Given the description of an element on the screen output the (x, y) to click on. 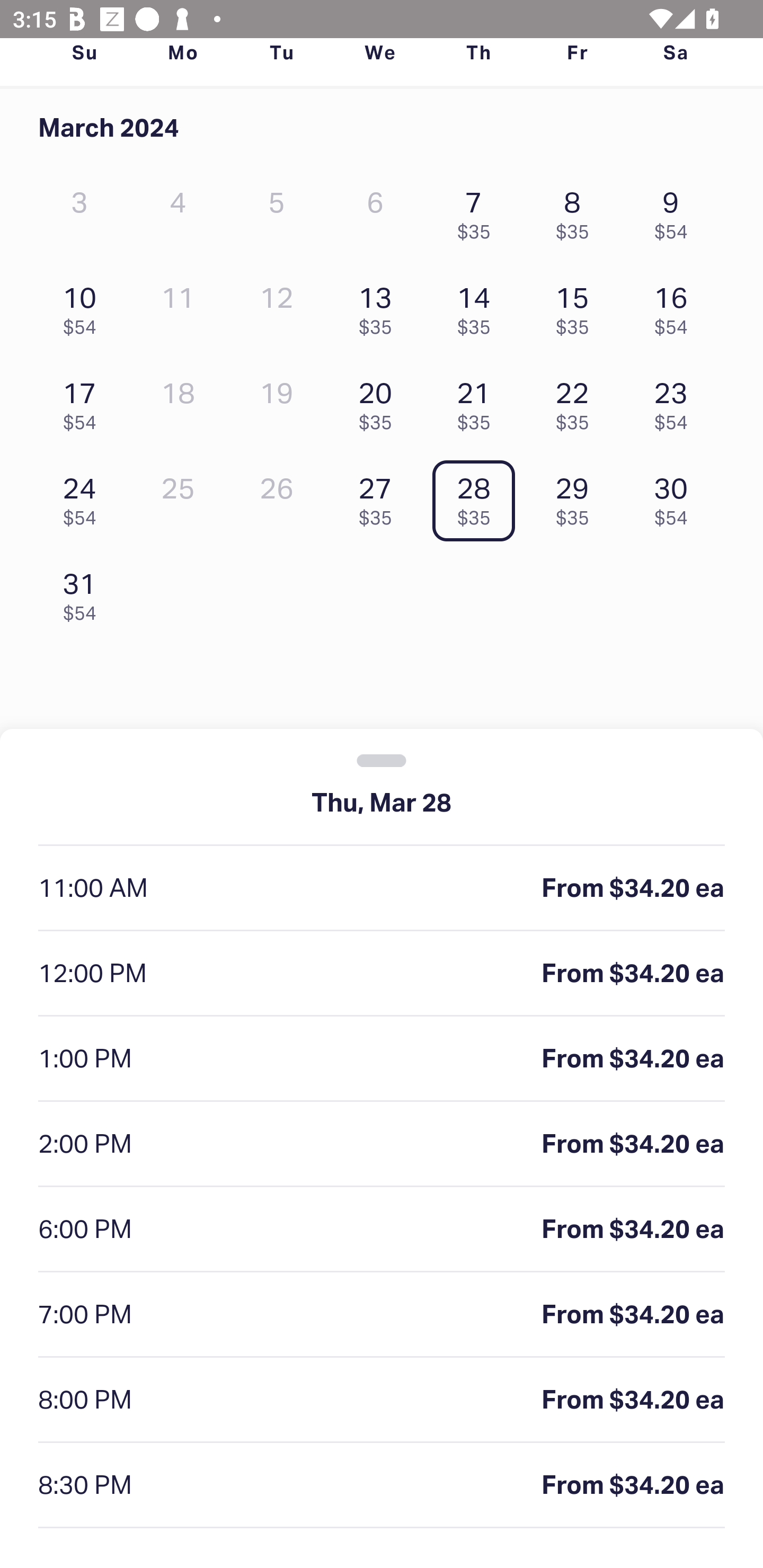
7 $35 (478, 210)
8 $35 (577, 210)
9 $54 (675, 210)
10 $54 (84, 306)
13 $35 (379, 306)
14 $35 (478, 306)
15 $35 (577, 306)
16 $54 (675, 306)
17 $54 (84, 401)
20 $35 (379, 401)
21 $35 (478, 401)
22 $35 (577, 401)
23 $54 (675, 401)
24 $54 (84, 496)
27 $35 (379, 496)
28 $35 (478, 496)
29 $35 (577, 496)
30 $54 (675, 496)
31 $54 (84, 591)
11:00 AM From $34.20 ea (381, 888)
12:00 PM From $34.20 ea (381, 973)
1:00 PM From $34.20 ea (381, 1059)
2:00 PM From $34.20 ea (381, 1144)
6:00 PM From $34.20 ea (381, 1228)
7:00 PM From $34.20 ea (381, 1314)
8:00 PM From $34.20 ea (381, 1399)
8:30 PM From $34.20 ea (381, 1485)
